Given the description of an element on the screen output the (x, y) to click on. 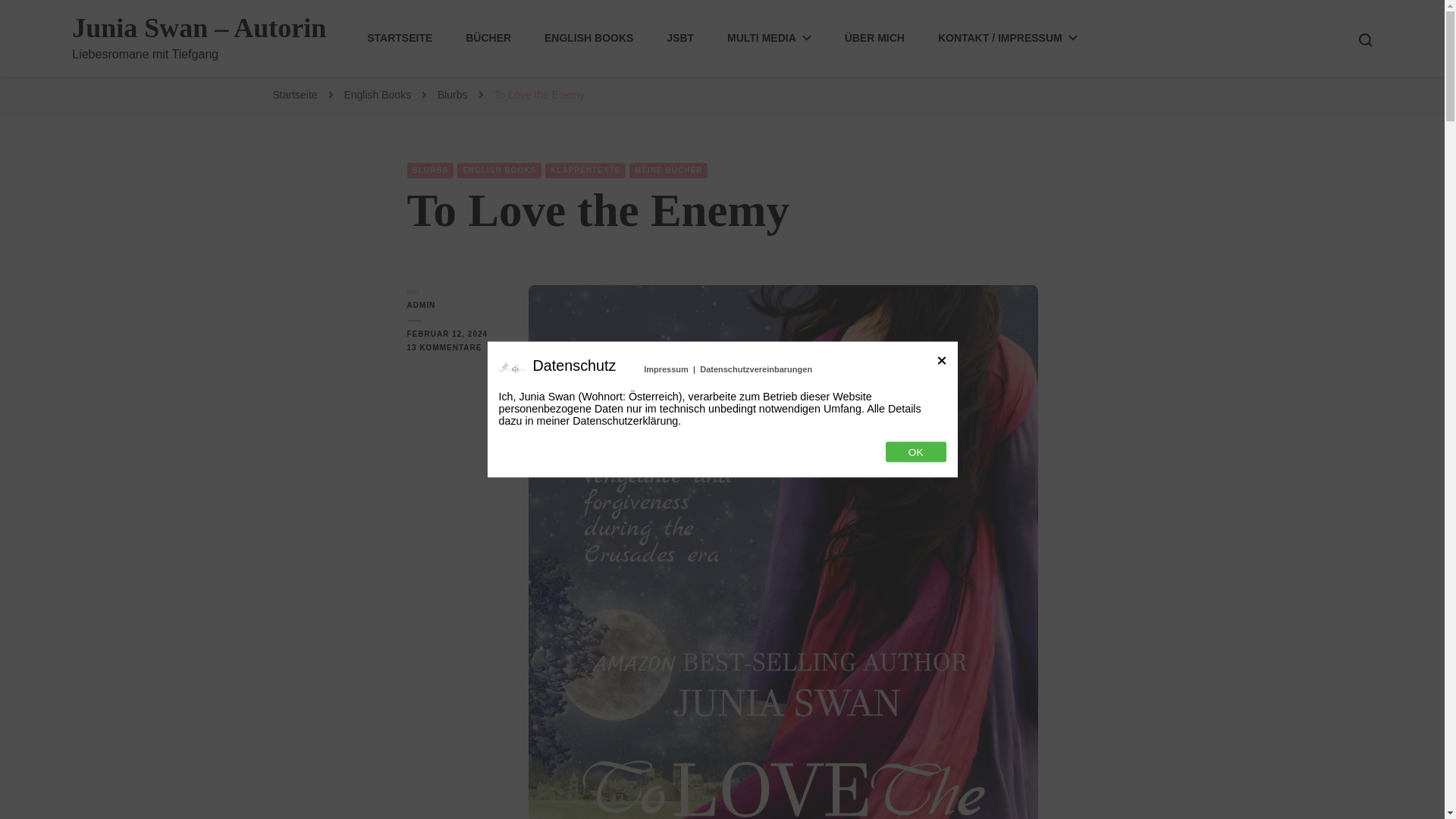
STARTSEITE (399, 37)
Startseite (295, 94)
Blurbs (454, 94)
JSBT (680, 37)
To Love the Enemy (539, 94)
English Books (378, 94)
ENGLISH BOOKS (588, 37)
MULTI MEDIA (768, 37)
